Given the description of an element on the screen output the (x, y) to click on. 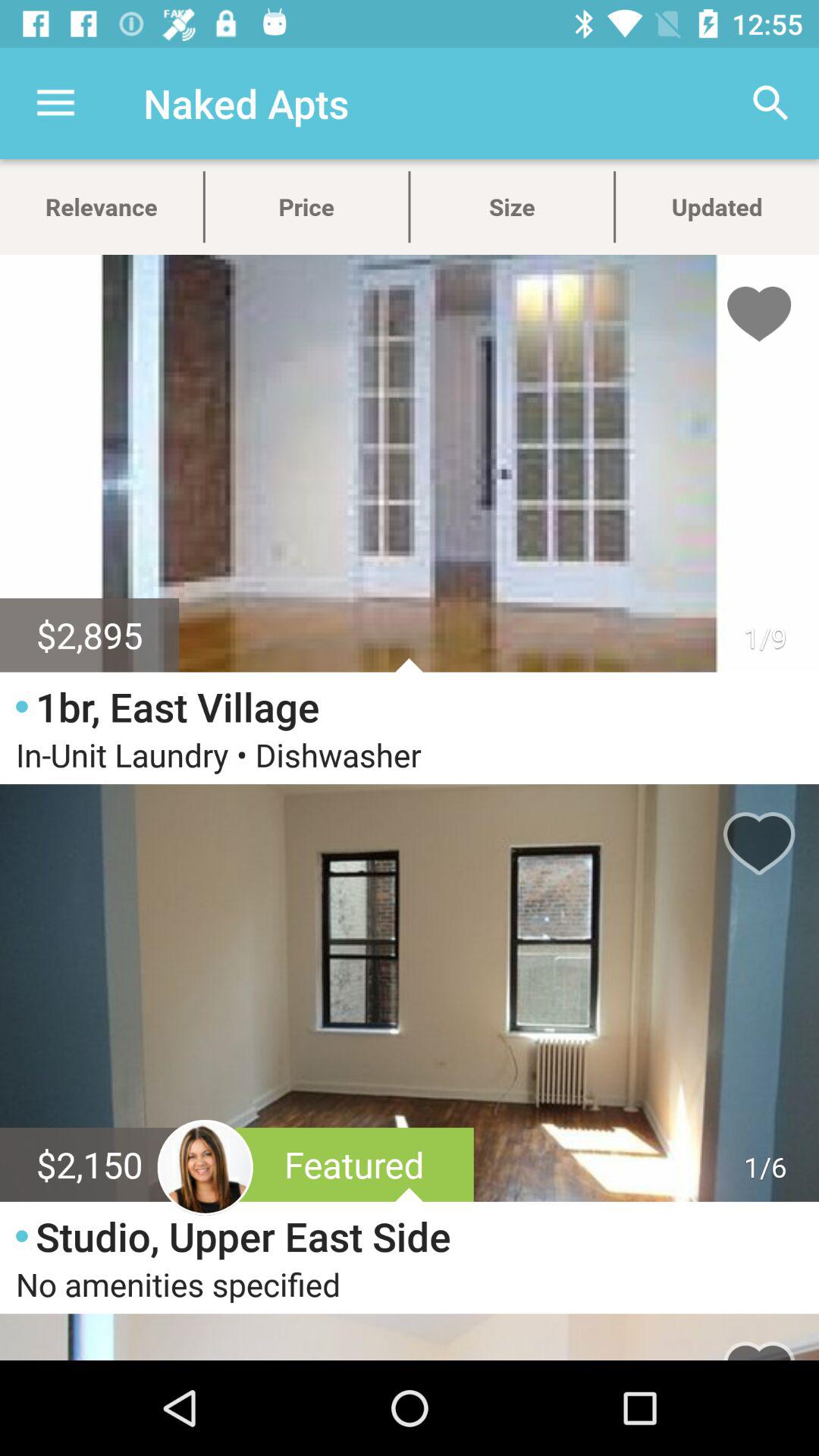
flip until the price icon (306, 206)
